Given the description of an element on the screen output the (x, y) to click on. 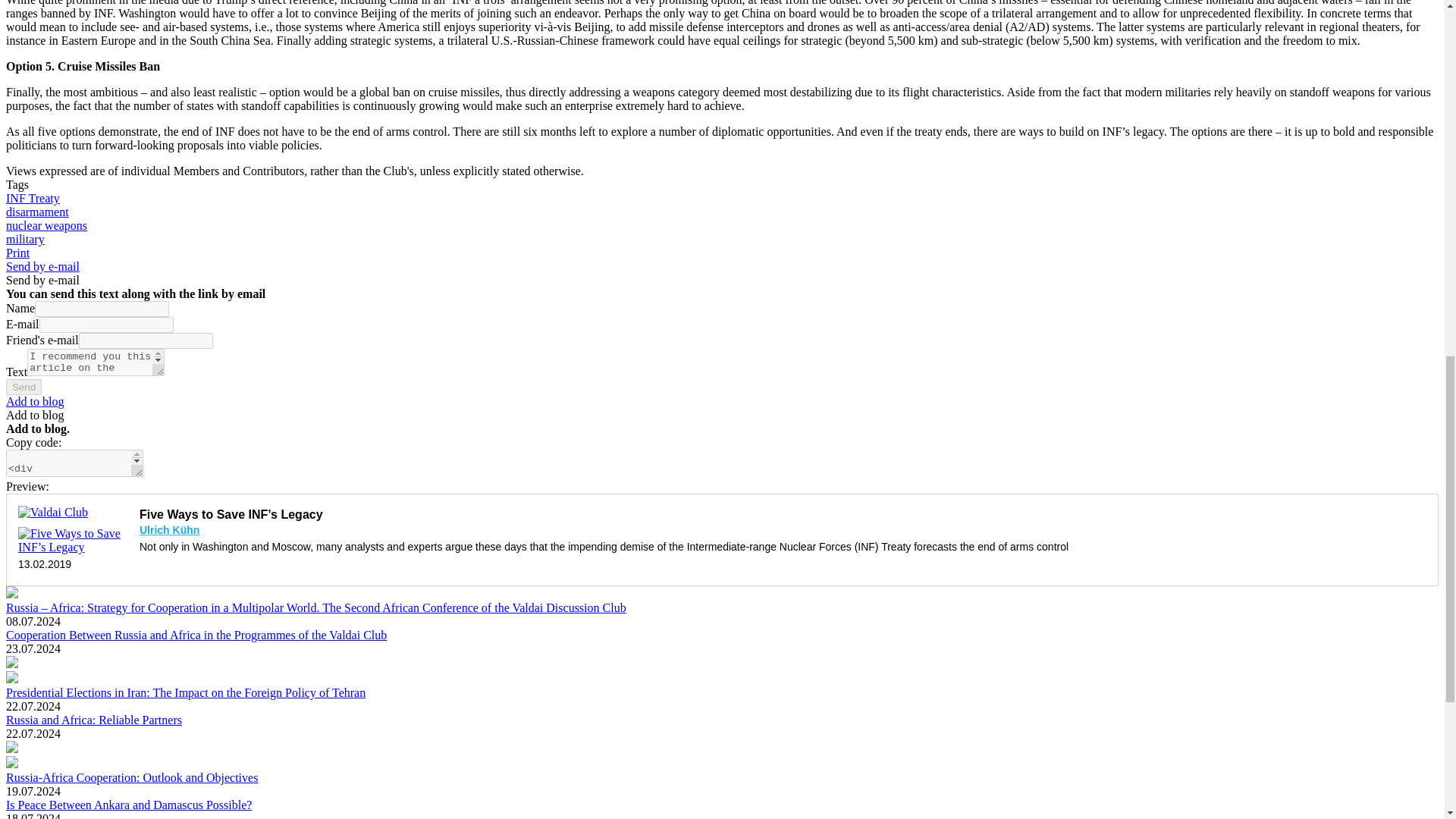
Send (23, 386)
